Given the description of an element on the screen output the (x, y) to click on. 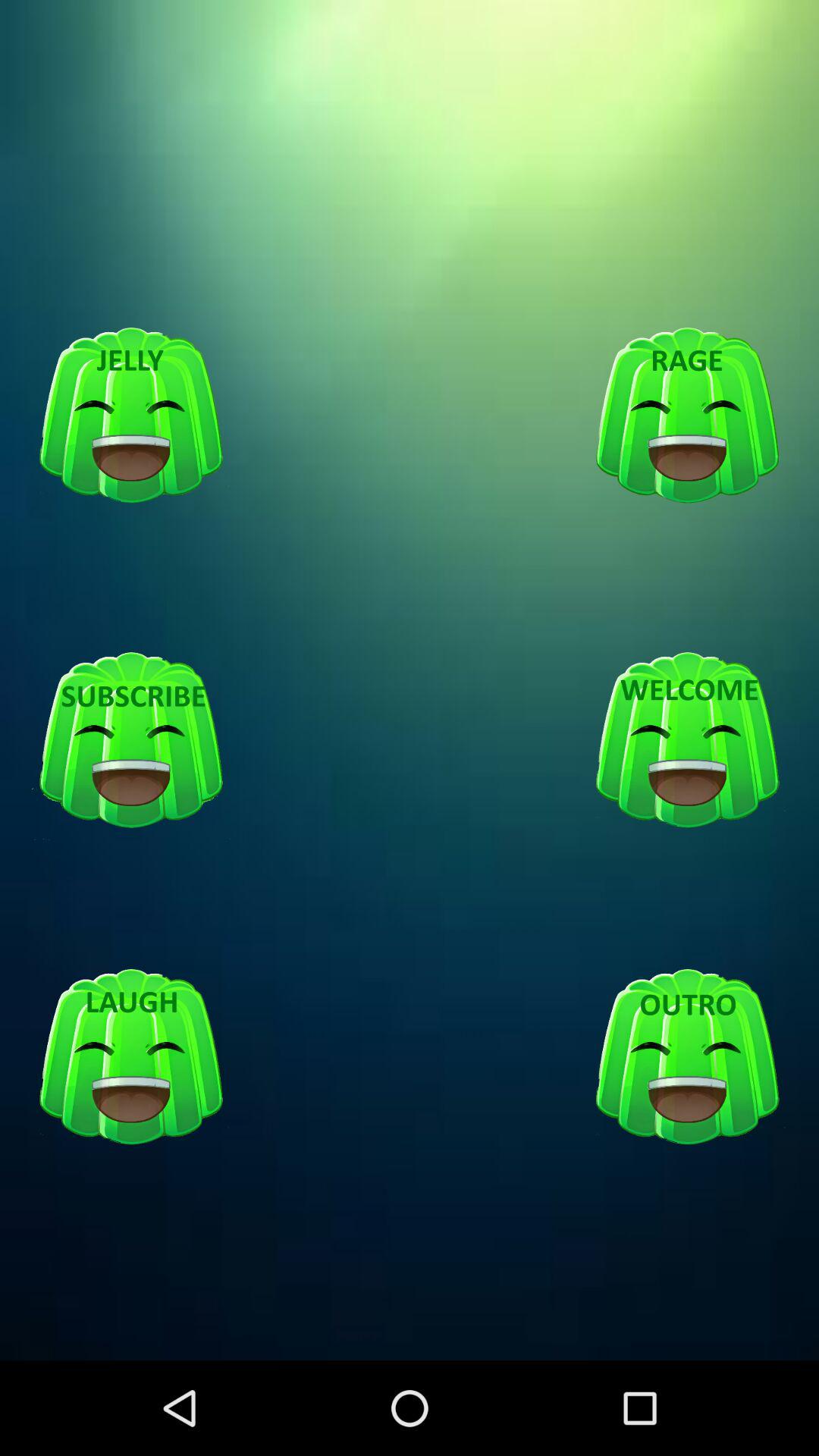
outro icon (687, 1057)
